Given the description of an element on the screen output the (x, y) to click on. 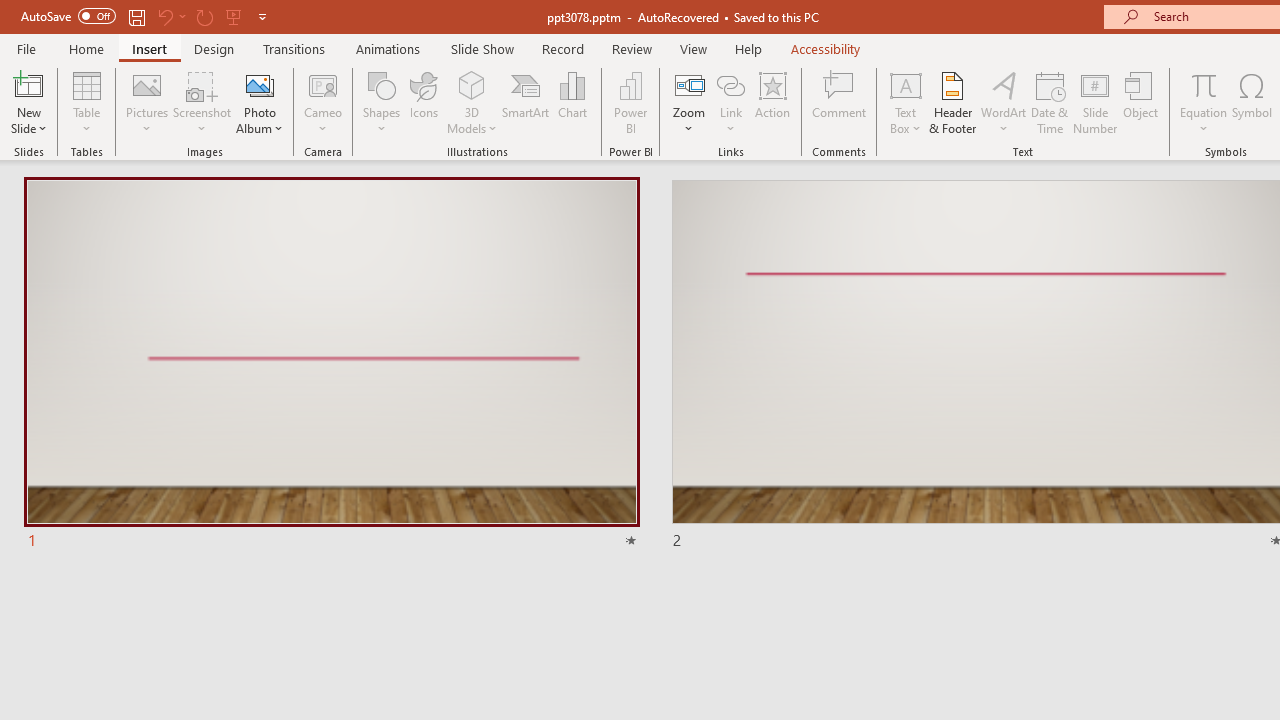
From Beginning (234, 15)
Date & Time... (1050, 102)
Chart... (572, 102)
Pictures (147, 102)
Cameo (323, 84)
Screenshot (202, 102)
Quick Access Toolbar (145, 16)
